Given the description of an element on the screen output the (x, y) to click on. 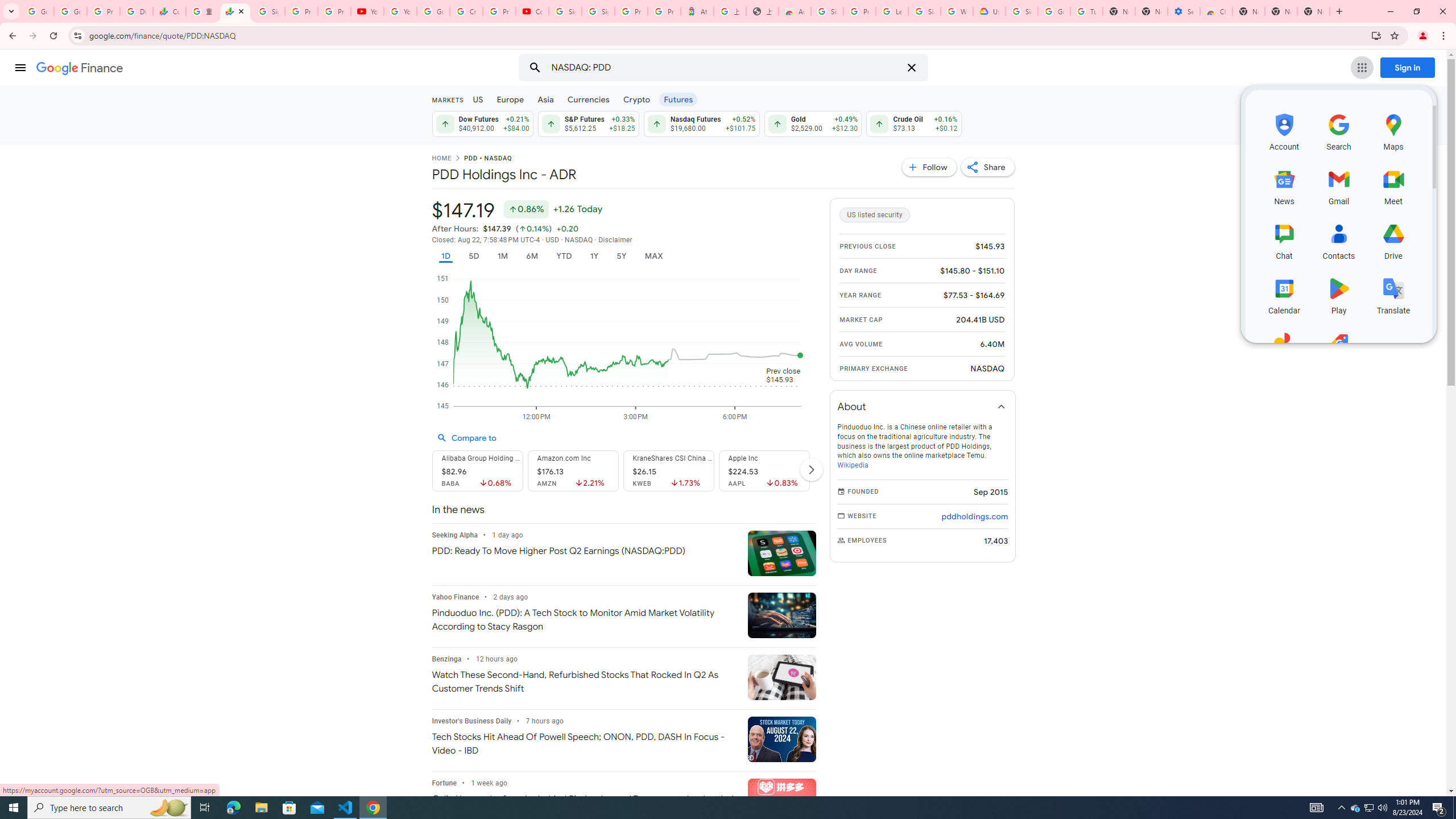
Crude Oil $73.13 Up by 0.12% +$0.12 (914, 123)
Share (987, 167)
Awesome Screen Recorder & Screenshot - Chrome Web Store (794, 11)
Google Workspace Admin Community (37, 11)
5D (473, 255)
Finance (79, 68)
Sign in - Google Accounts (268, 11)
